Given the description of an element on the screen output the (x, y) to click on. 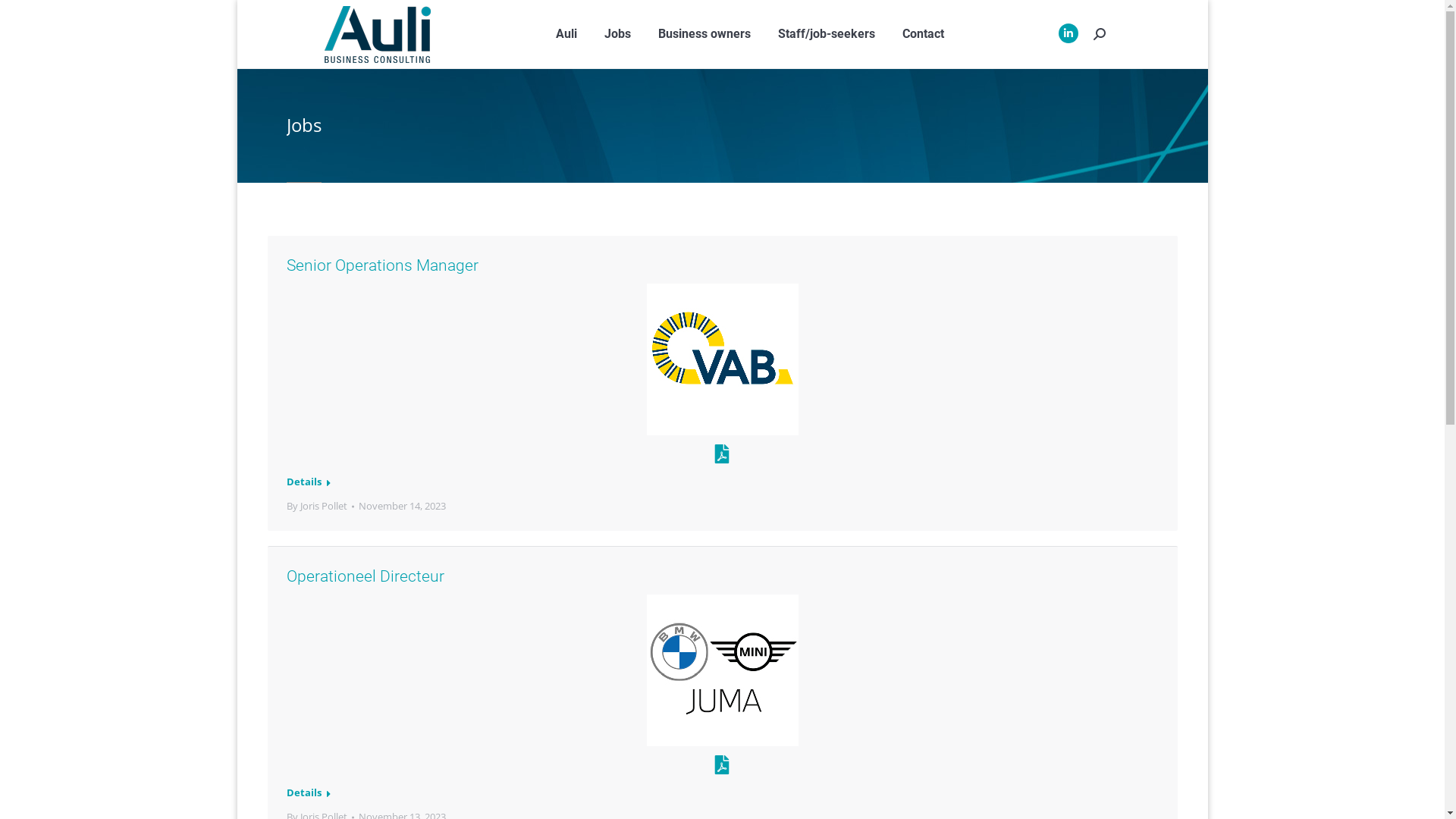
Details Element type: text (308, 483)
Operationeel Directeur Element type: text (365, 575)
Contact Element type: text (923, 33)
PDF Element type: hover (722, 765)
Linkedin page opens in new window Element type: text (1068, 33)
November 14, 2023 Element type: text (401, 505)
Details Element type: text (308, 794)
By Joris Pollet Element type: text (320, 505)
Business owners Element type: text (704, 33)
Senior Operations Manager Element type: text (382, 265)
PDF Element type: hover (722, 454)
Staff/job-seekers Element type: text (826, 33)
Go! Element type: text (23, 15)
Auli Element type: text (565, 33)
Jobs Element type: text (616, 33)
